Given the description of an element on the screen output the (x, y) to click on. 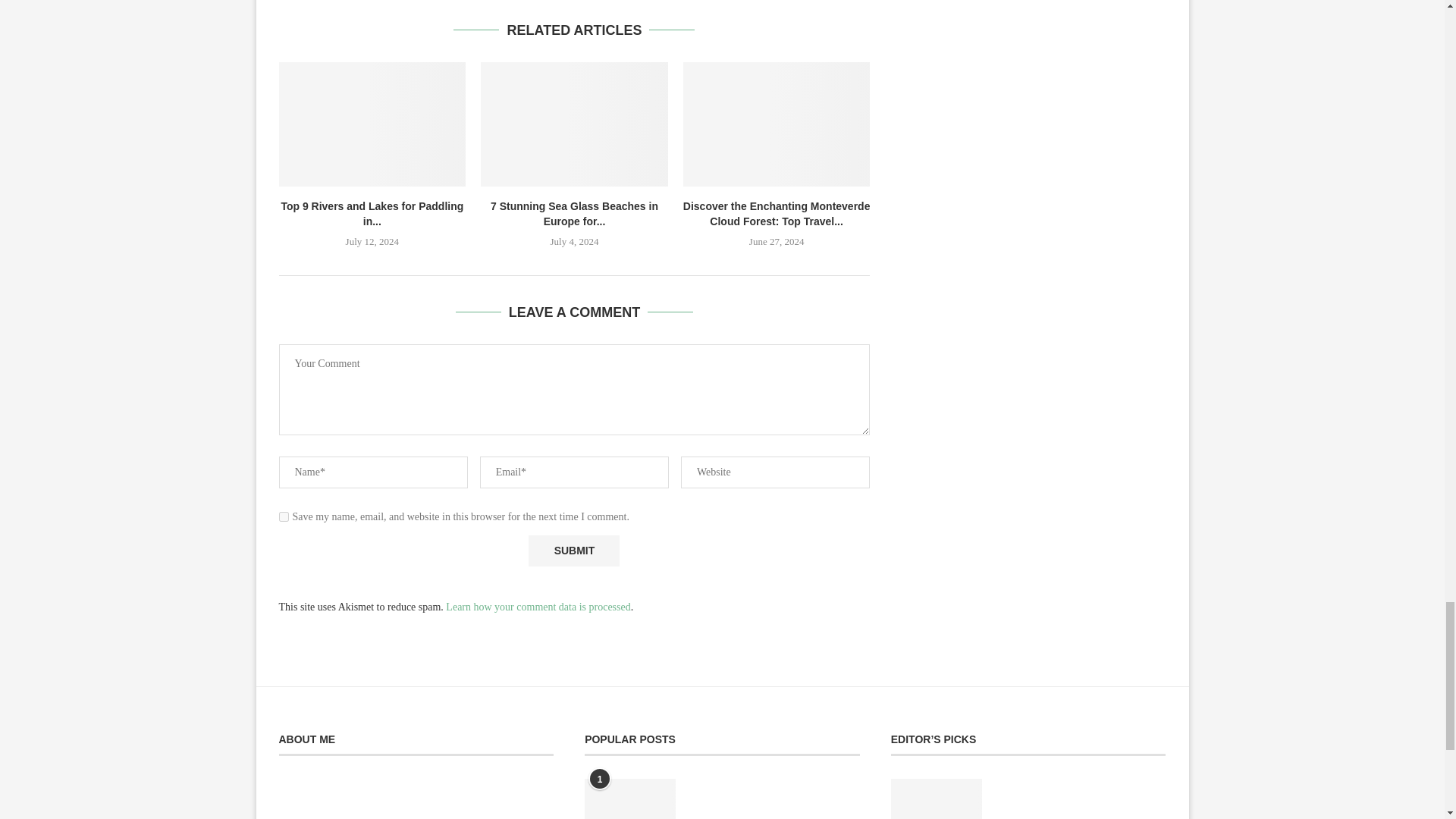
yes (283, 516)
Submit (574, 550)
